Given the description of an element on the screen output the (x, y) to click on. 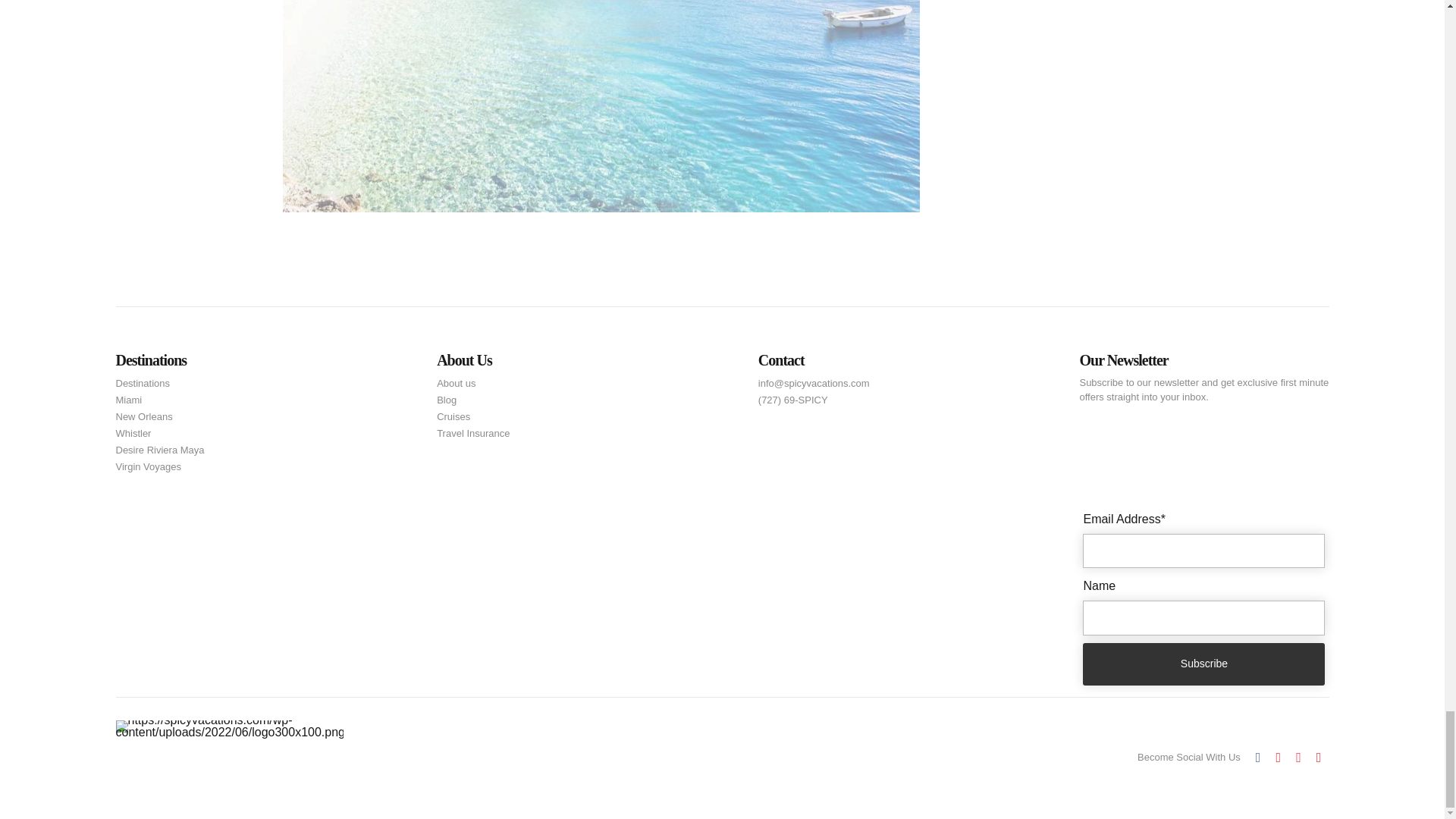
New Orleans (143, 416)
Desire Riviera Maya (159, 450)
Miami (128, 400)
Whistler (133, 433)
Destinations (142, 383)
Subscribe (1203, 663)
Virgin Voyages (147, 466)
Subscribe (544, 122)
About us (456, 383)
